Given the description of an element on the screen output the (x, y) to click on. 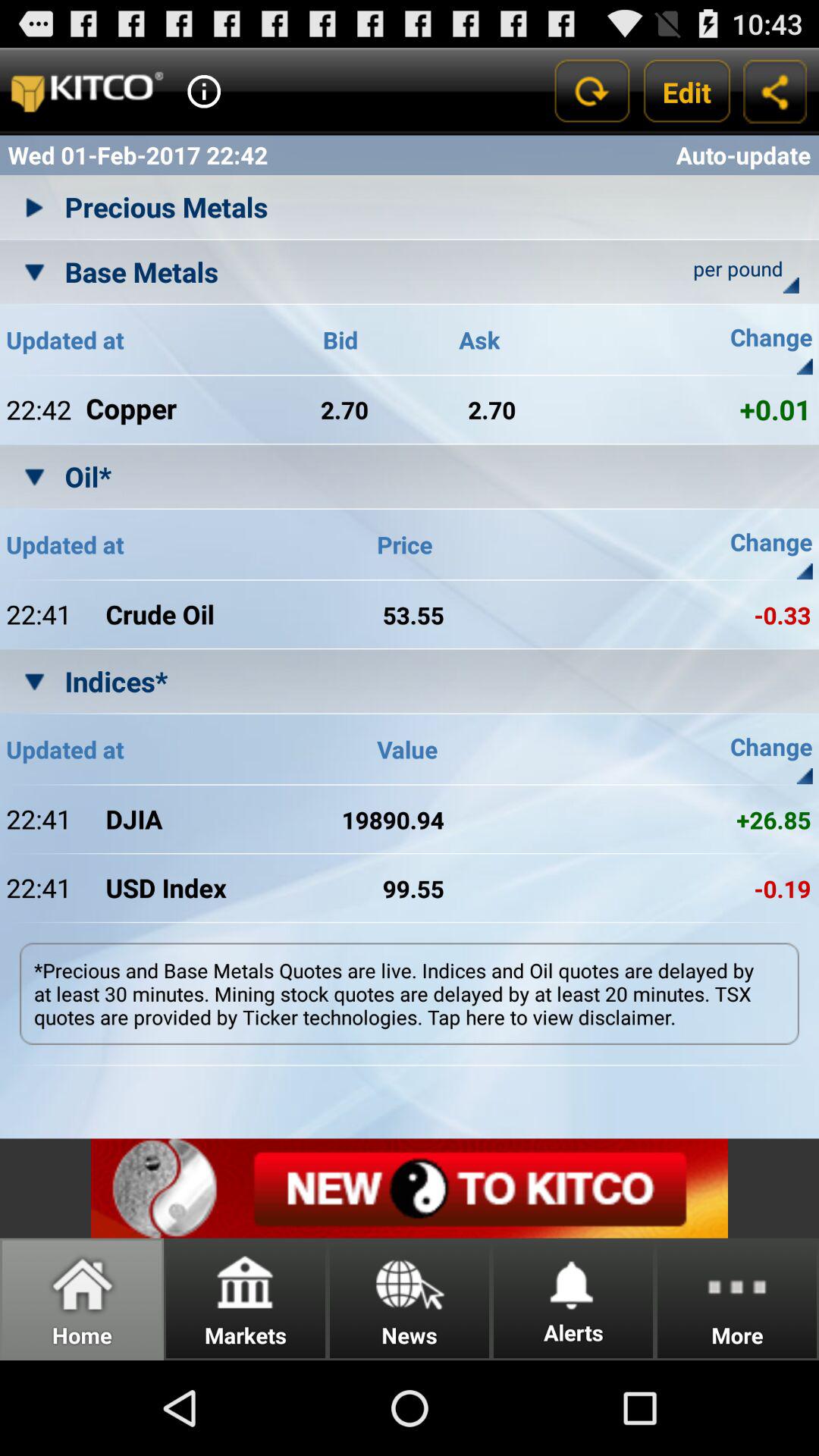
refresh the current results (591, 91)
